Given the description of an element on the screen output the (x, y) to click on. 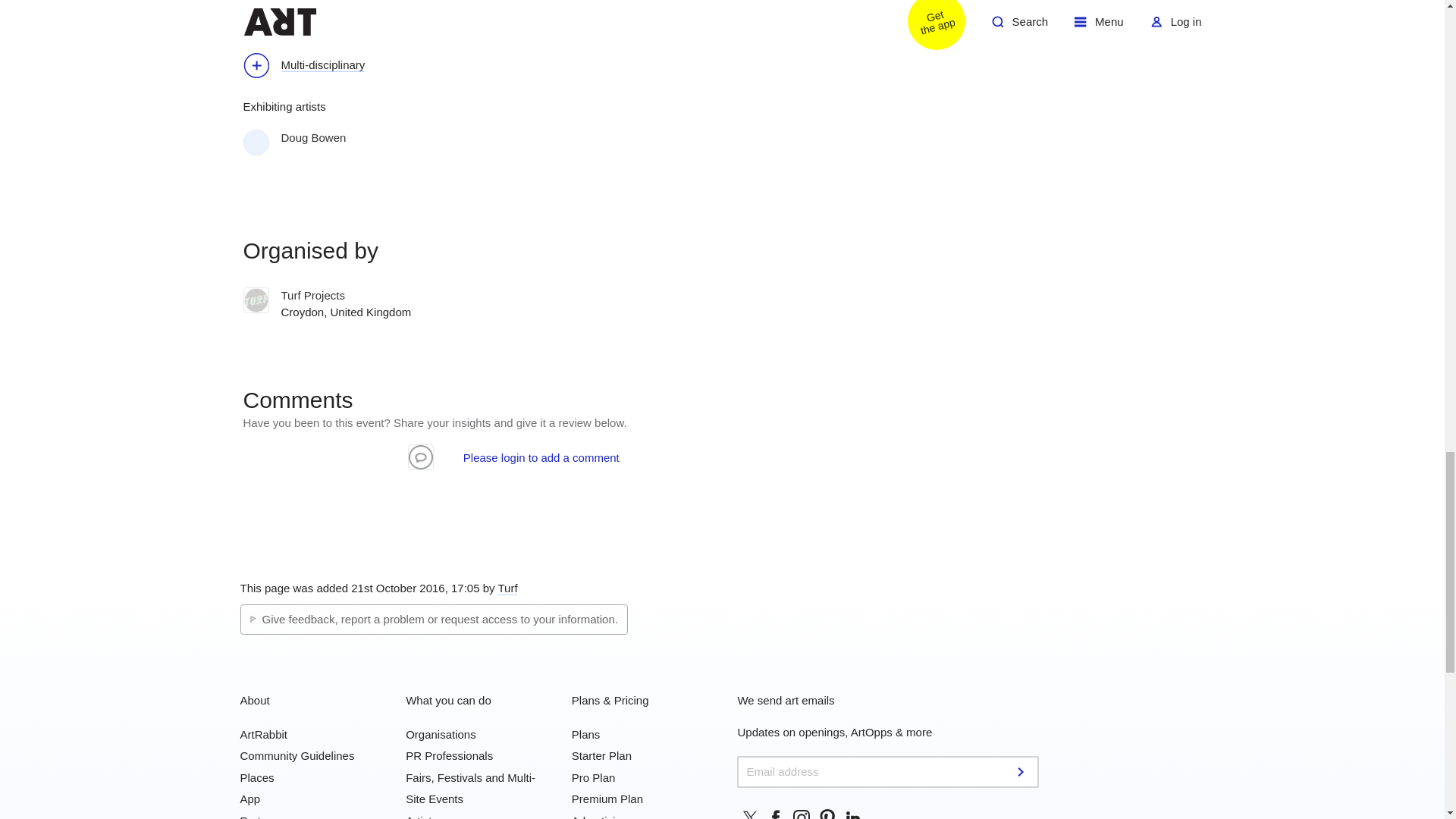
Multi-disciplinary (311, 66)
Doug Bowen (342, 137)
submit (1021, 771)
